Given the description of an element on the screen output the (x, y) to click on. 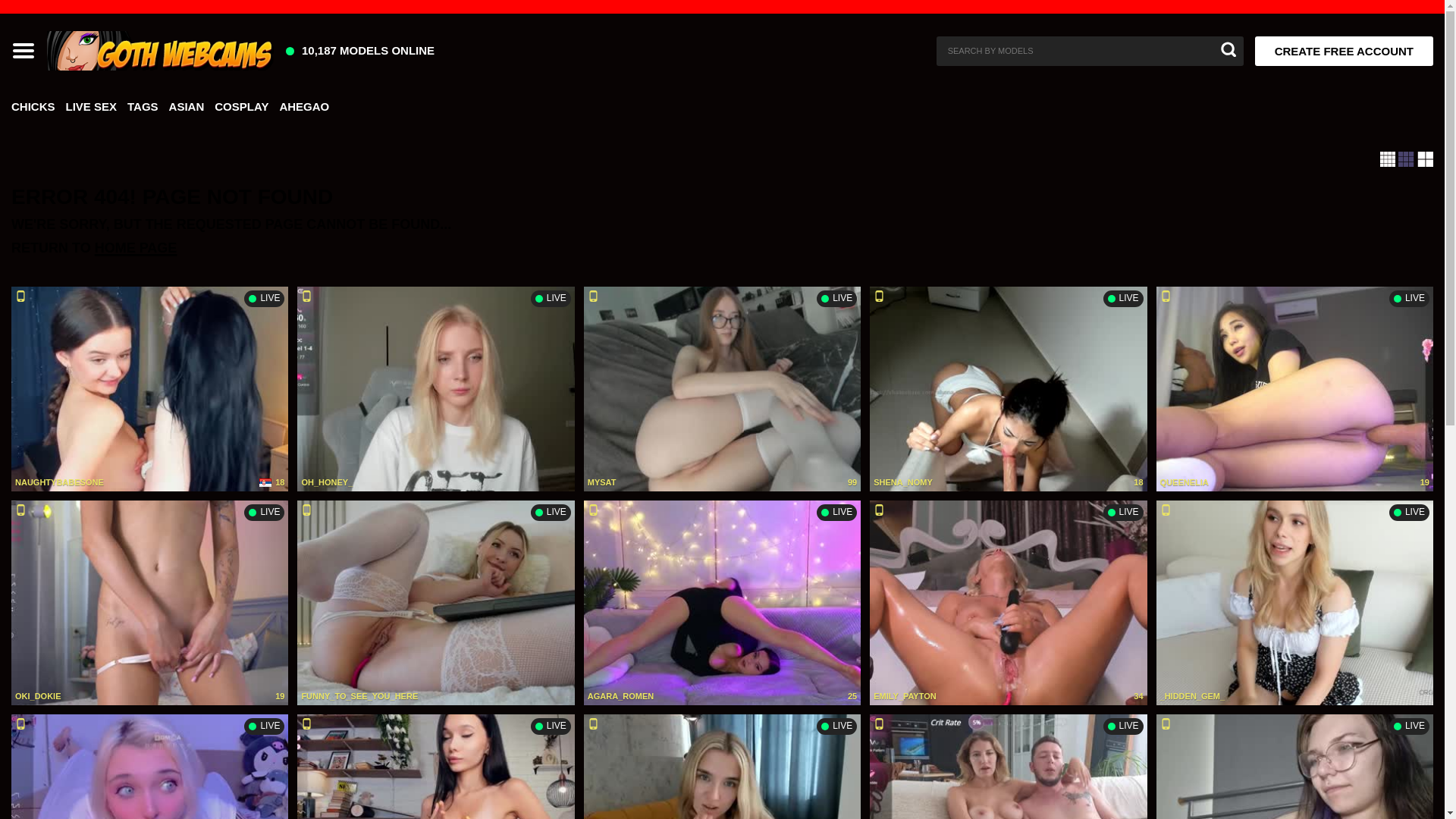
LIVE (263, 298)
LIVE (1409, 298)
COSPLAY (241, 110)
LIVE SEX (91, 110)
LIVE (836, 298)
19 (276, 696)
18 (269, 482)
LIVE (550, 298)
ASIAN (186, 110)
99 (850, 482)
18 (1135, 482)
HOME PAGE (135, 247)
CHICKS (33, 110)
TAGS (142, 110)
LIVE (263, 512)
